Given the description of an element on the screen output the (x, y) to click on. 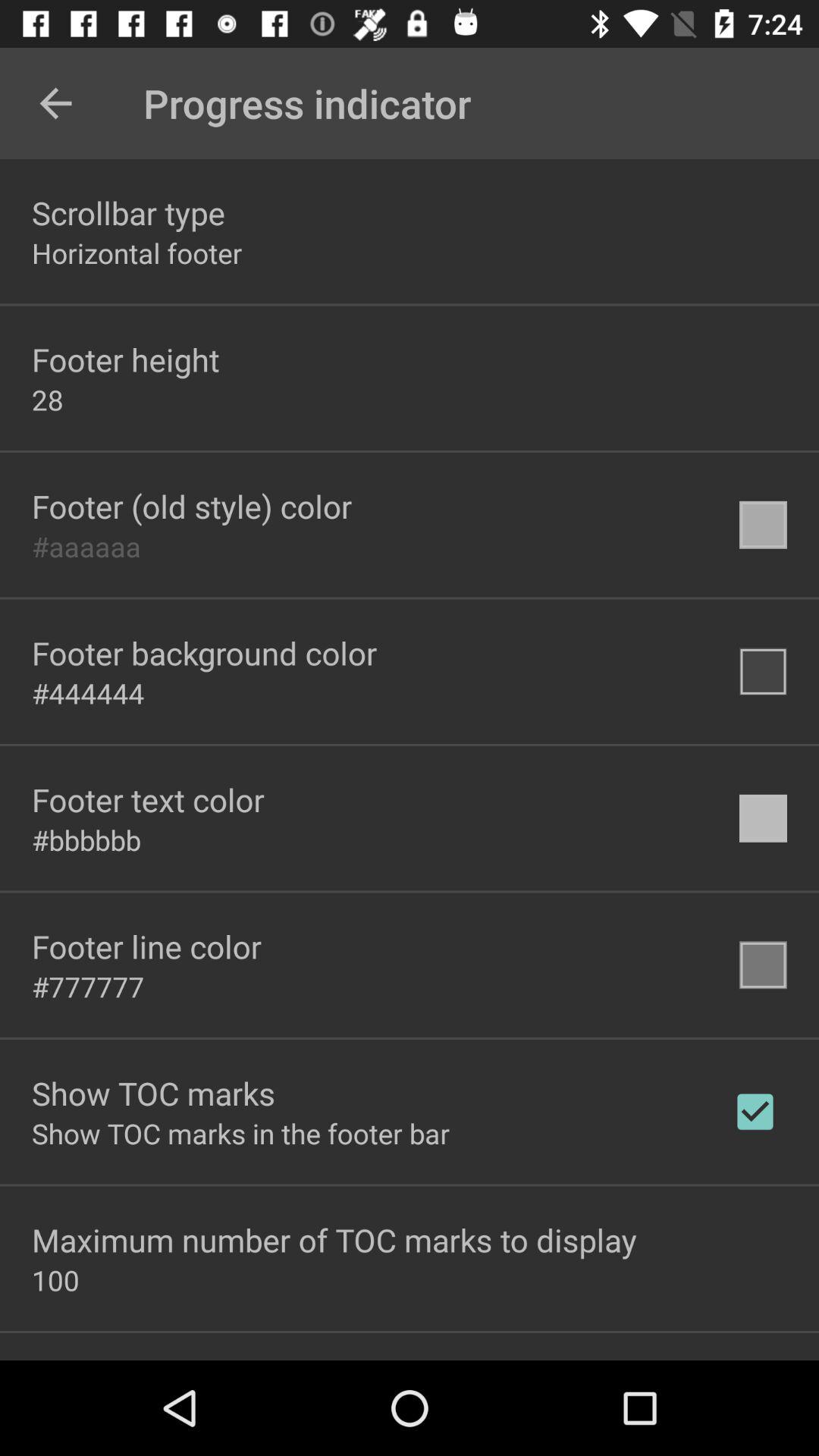
open the icon below footer old style icon (86, 546)
